Given the description of an element on the screen output the (x, y) to click on. 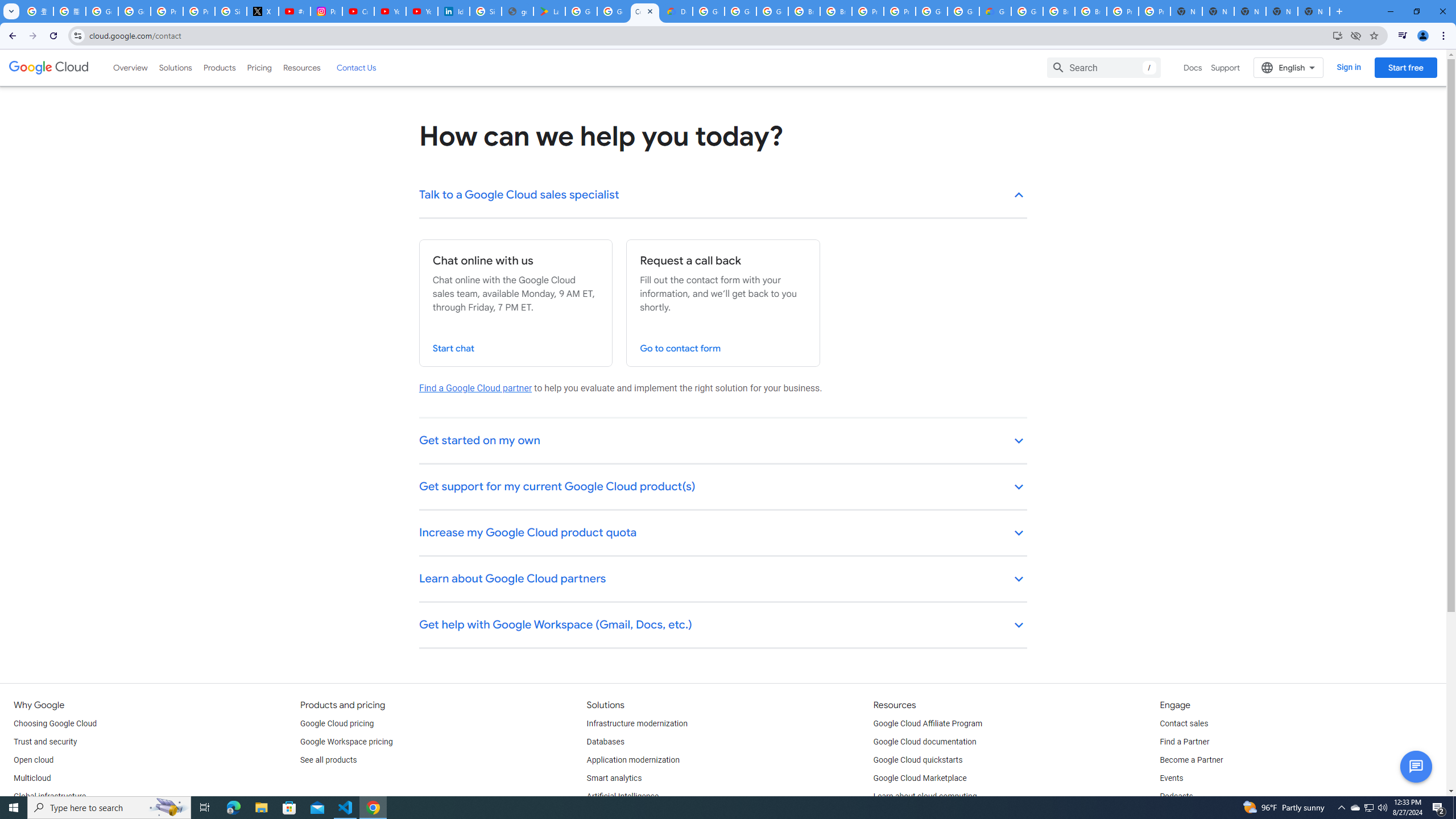
YouTube Culture & Trends - YouTube Top 10, 2021 (421, 11)
Learn about cloud computing (924, 796)
Find a Google Cloud partner (475, 387)
Contact Us (355, 67)
Docs (1192, 67)
Become a Partner (1190, 760)
Google Cloud pricing (336, 723)
Events (1170, 778)
